Given the description of an element on the screen output the (x, y) to click on. 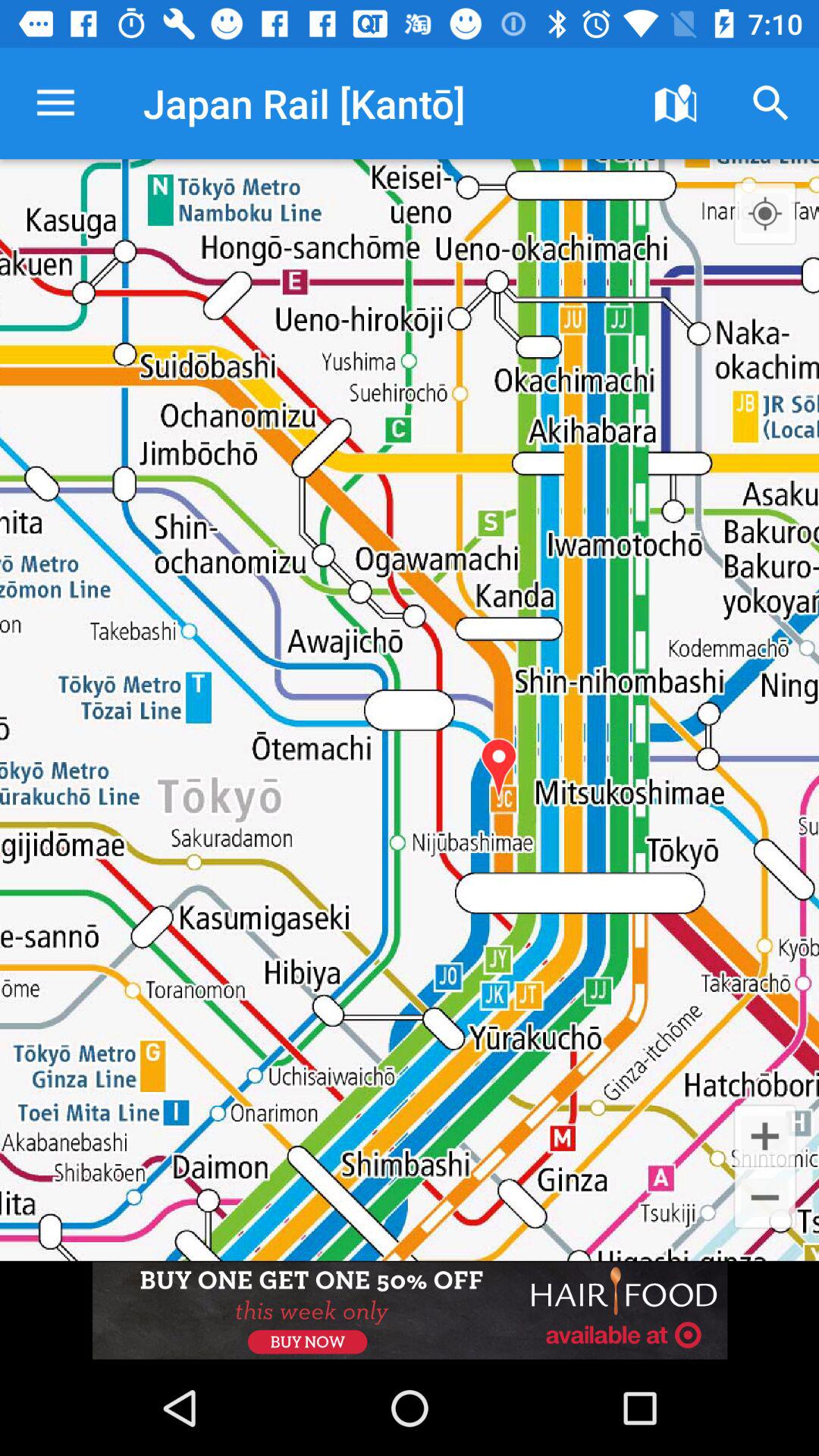
got to site (409, 1310)
